Given the description of an element on the screen output the (x, y) to click on. 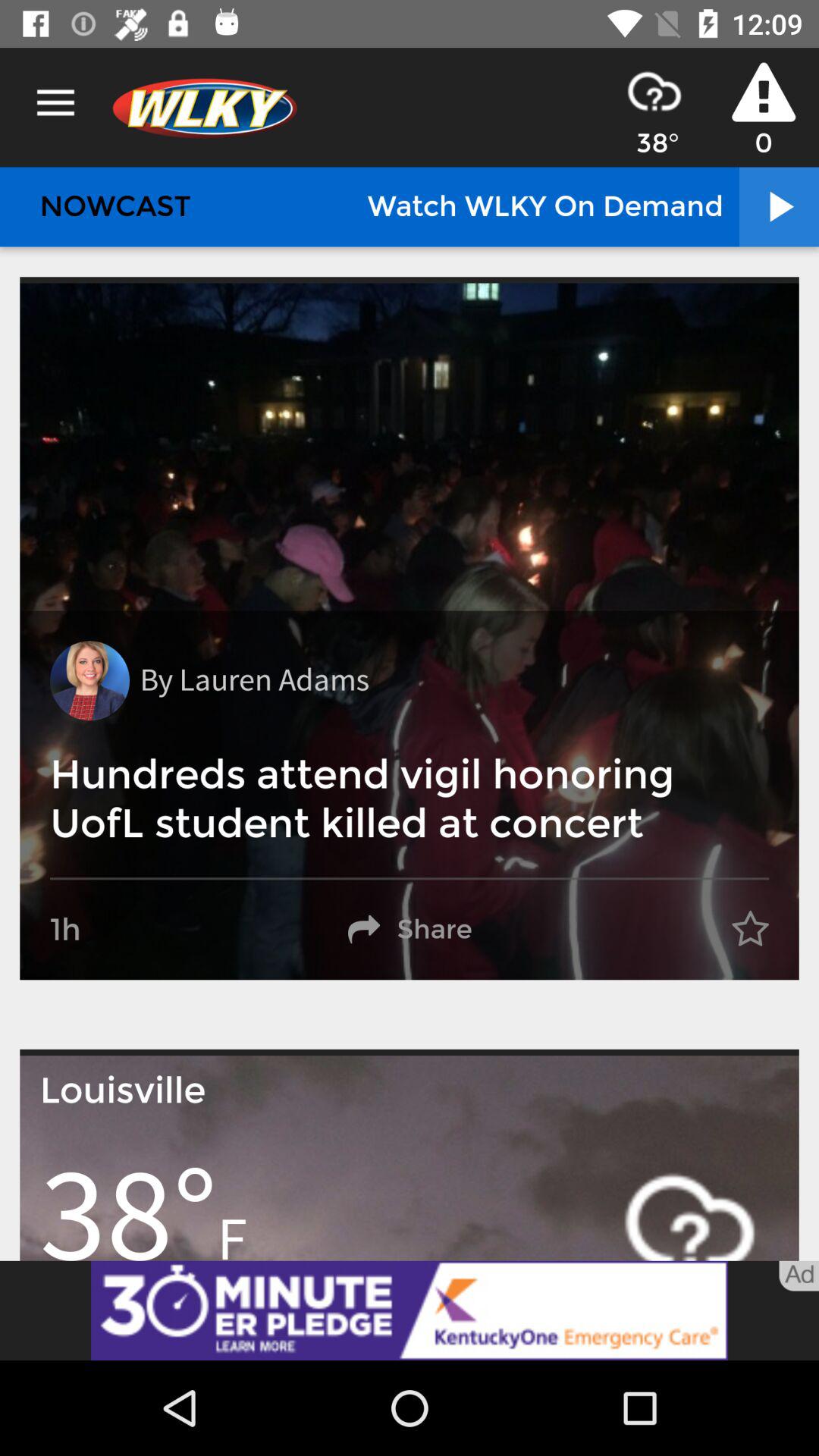
click the advertisement (409, 1310)
